Given the description of an element on the screen output the (x, y) to click on. 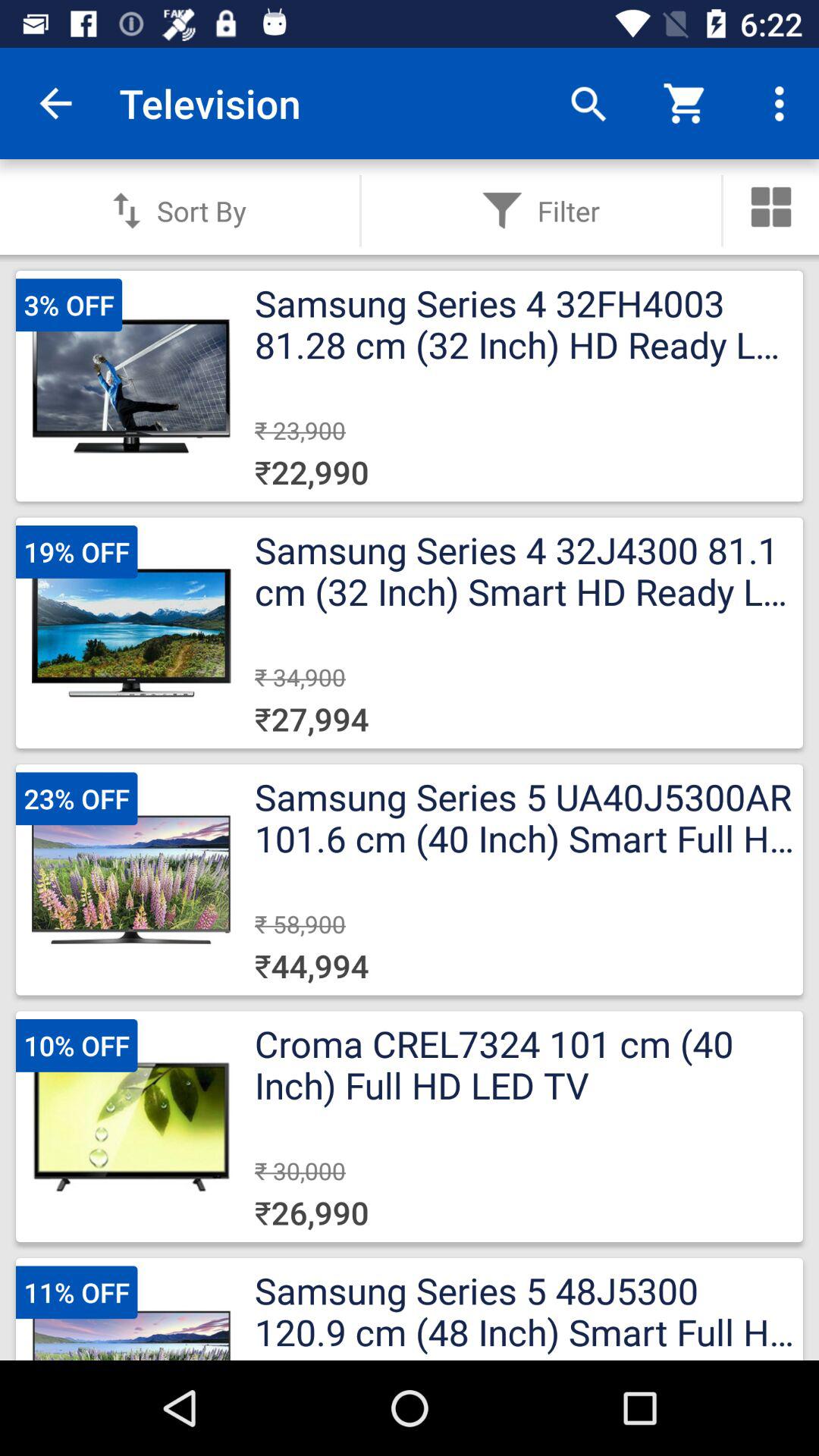
open the menu (771, 206)
